Given the description of an element on the screen output the (x, y) to click on. 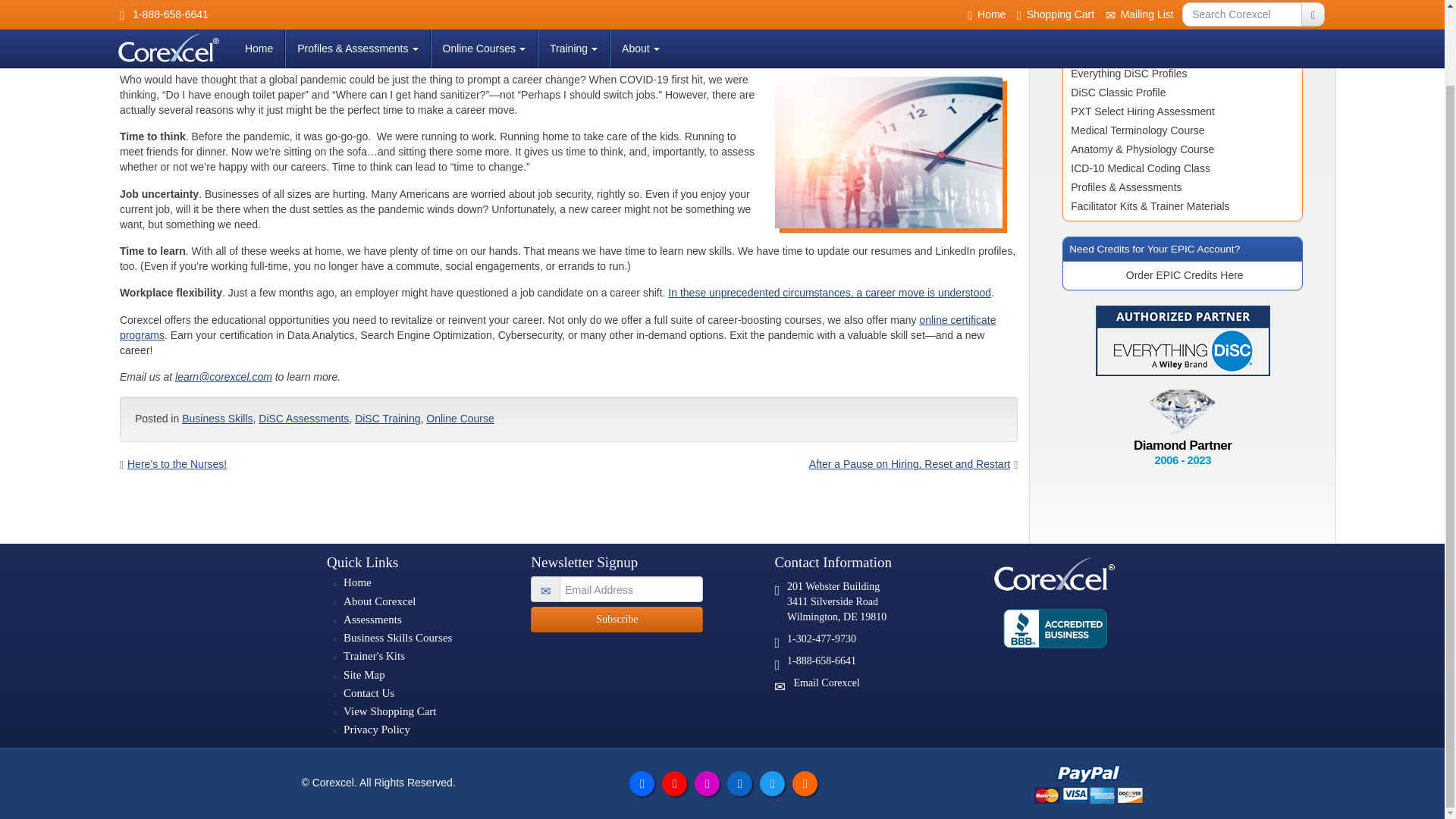
View Shopping Cart (389, 711)
Call toll free (776, 664)
Call or text (776, 643)
